Given the description of an element on the screen output the (x, y) to click on. 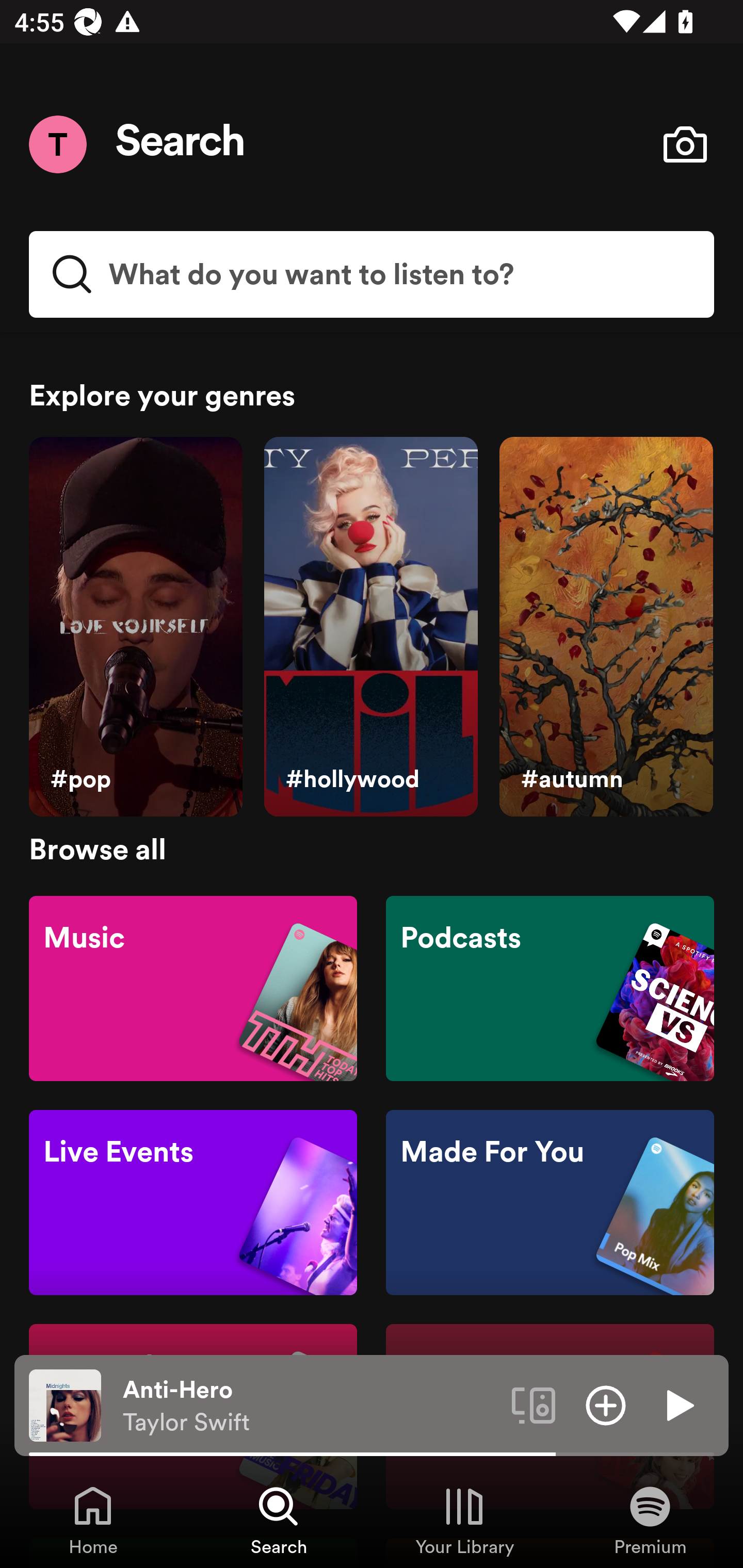
Menu (57, 144)
Open camera (685, 145)
Search (180, 144)
#pop (135, 626)
#hollywood (370, 626)
#autumn (606, 626)
Music (192, 987)
Podcasts (549, 987)
Live Events (192, 1202)
Made For You (549, 1202)
Anti-Hero Taylor Swift (309, 1405)
The cover art of the currently playing track (64, 1404)
Connect to a device. Opens the devices menu (533, 1404)
Add item (605, 1404)
Play (677, 1404)
Home, Tab 1 of 4 Home Home (92, 1519)
Search, Tab 2 of 4 Search Search (278, 1519)
Your Library, Tab 3 of 4 Your Library Your Library (464, 1519)
Premium, Tab 4 of 4 Premium Premium (650, 1519)
